Given the description of an element on the screen output the (x, y) to click on. 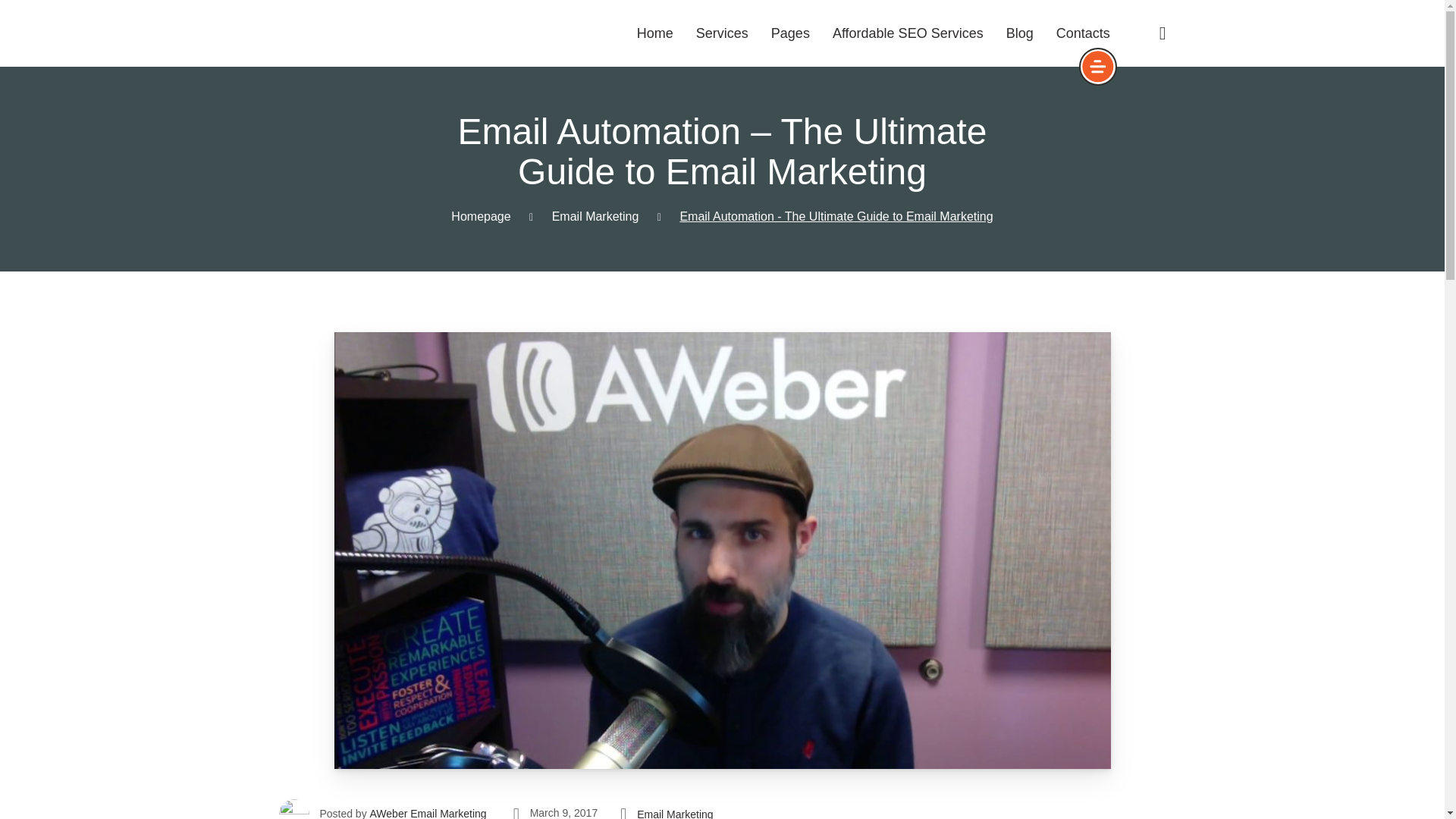
Services (721, 33)
Homepage (481, 215)
Email Marketing (595, 215)
AWeber Email Marketing (427, 812)
Pages (790, 33)
Home (654, 33)
Affordable SEO Services (908, 33)
Blog (1019, 33)
Contacts (1083, 33)
